Given the description of an element on the screen output the (x, y) to click on. 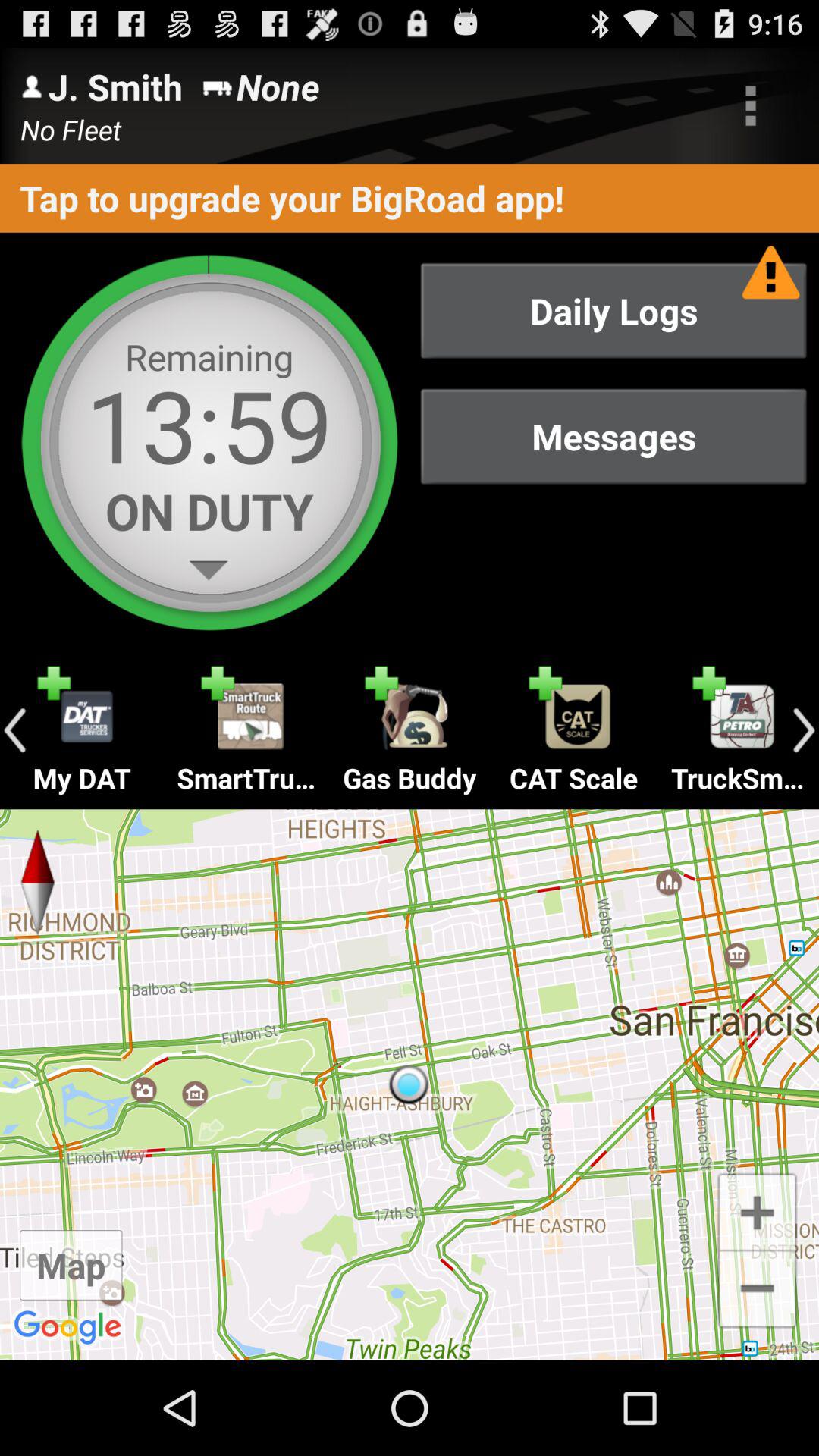
tap the icon at the bottom (409, 1084)
